Given the description of an element on the screen output the (x, y) to click on. 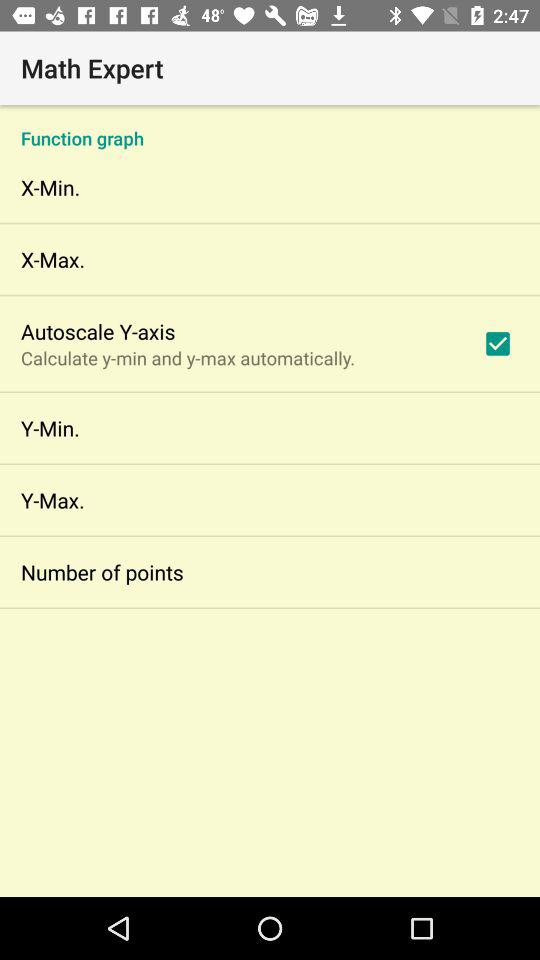
press app next to the calculate y min item (497, 343)
